Given the description of an element on the screen output the (x, y) to click on. 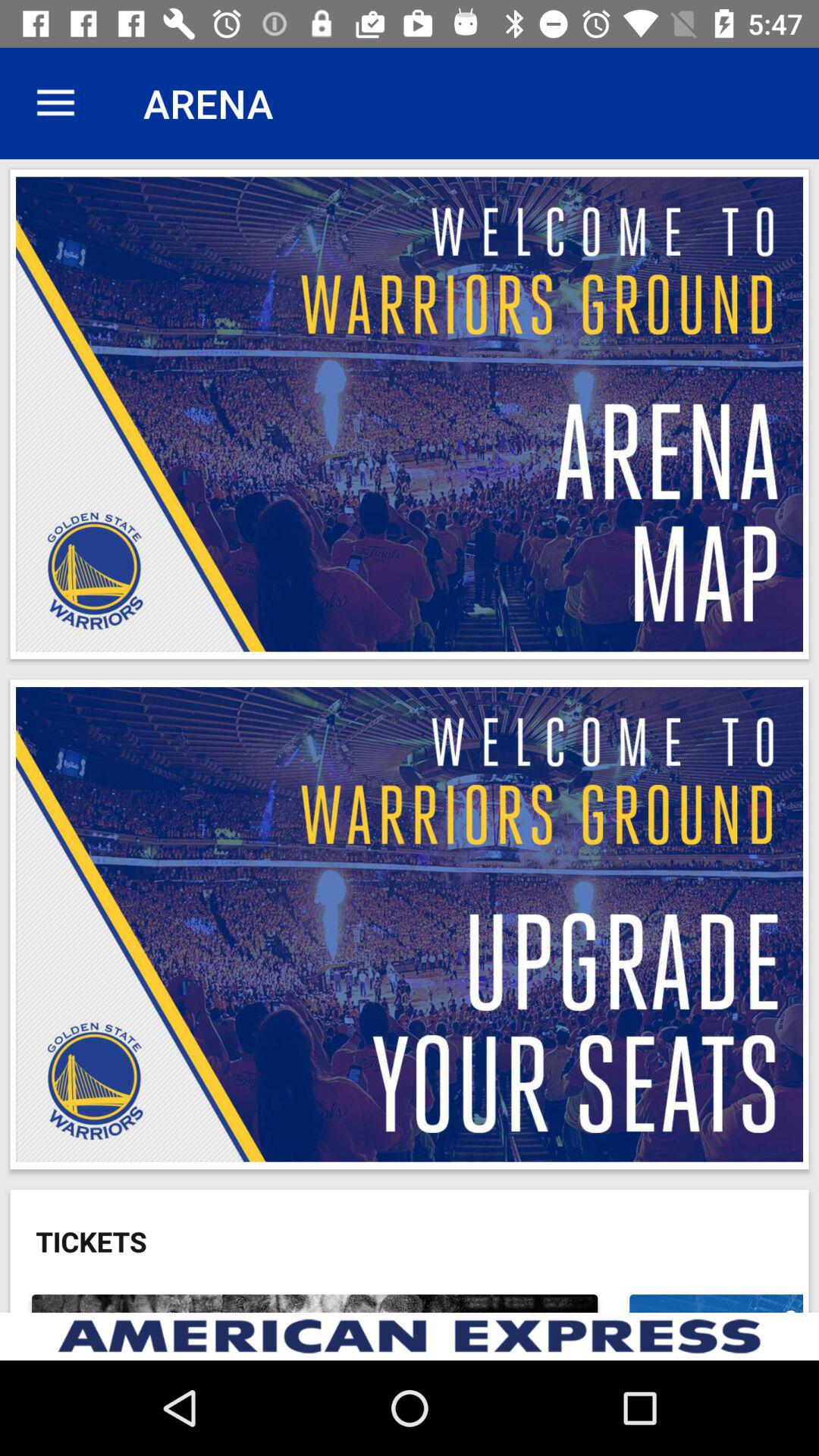
tap the icon to the left of arena icon (55, 103)
